Given the description of an element on the screen output the (x, y) to click on. 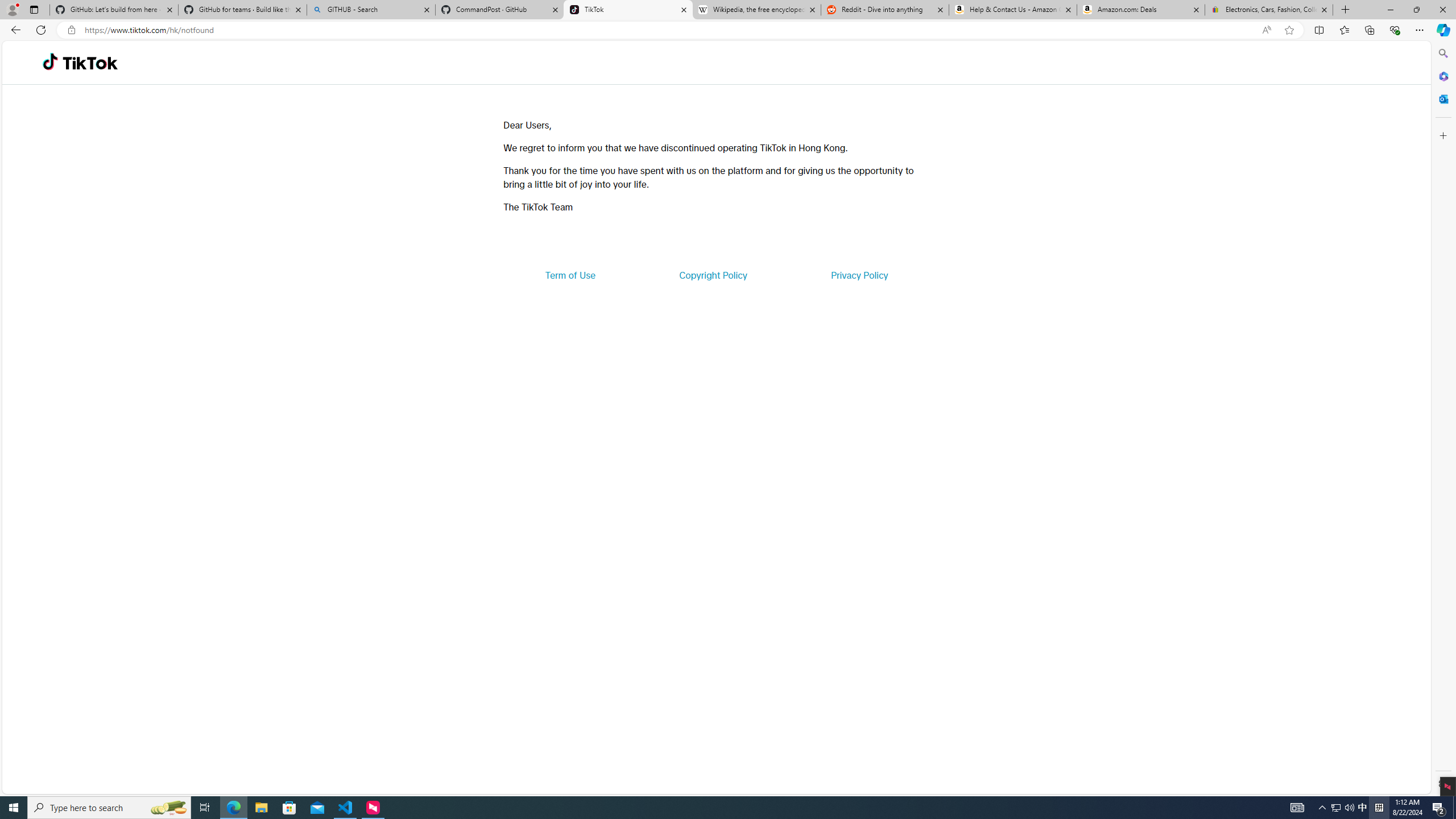
GITHUB - Search (370, 9)
Copyright Policy (712, 274)
TikTok (89, 62)
